Given the description of an element on the screen output the (x, y) to click on. 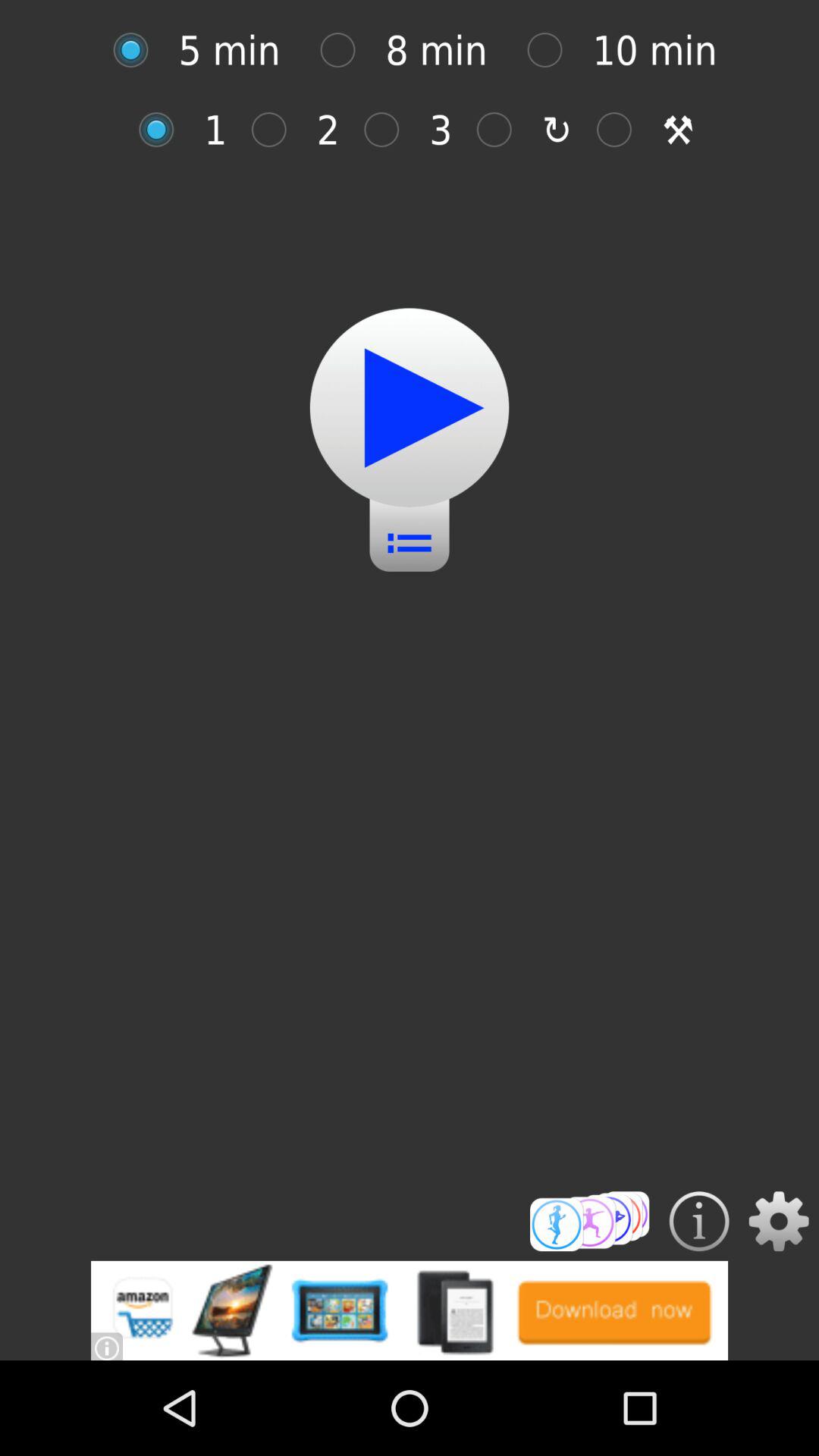
select number three (389, 129)
